Given the description of an element on the screen output the (x, y) to click on. 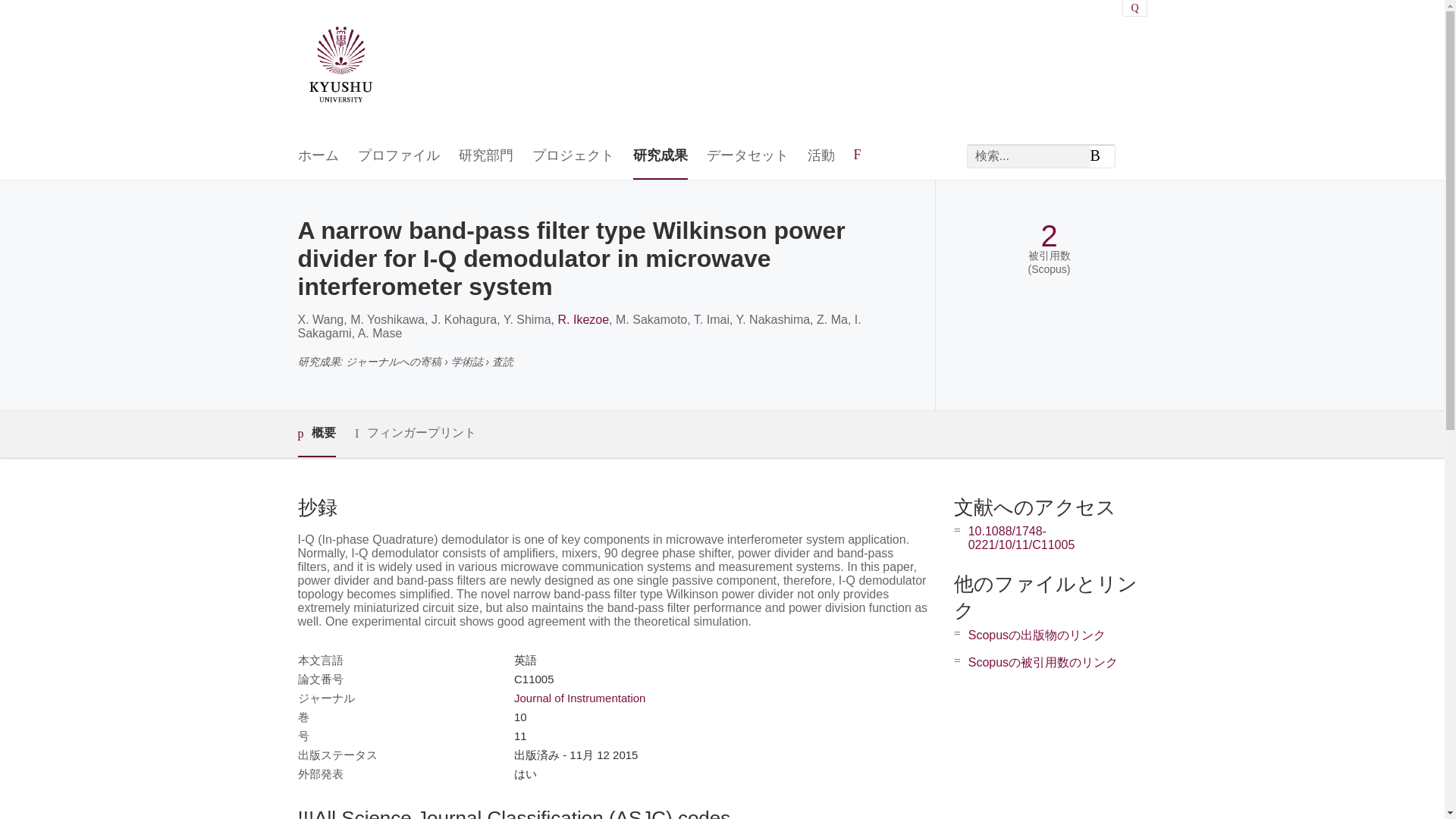
Journal of Instrumentation (579, 697)
2 (1049, 235)
R. Ikezoe (583, 318)
